Given the description of an element on the screen output the (x, y) to click on. 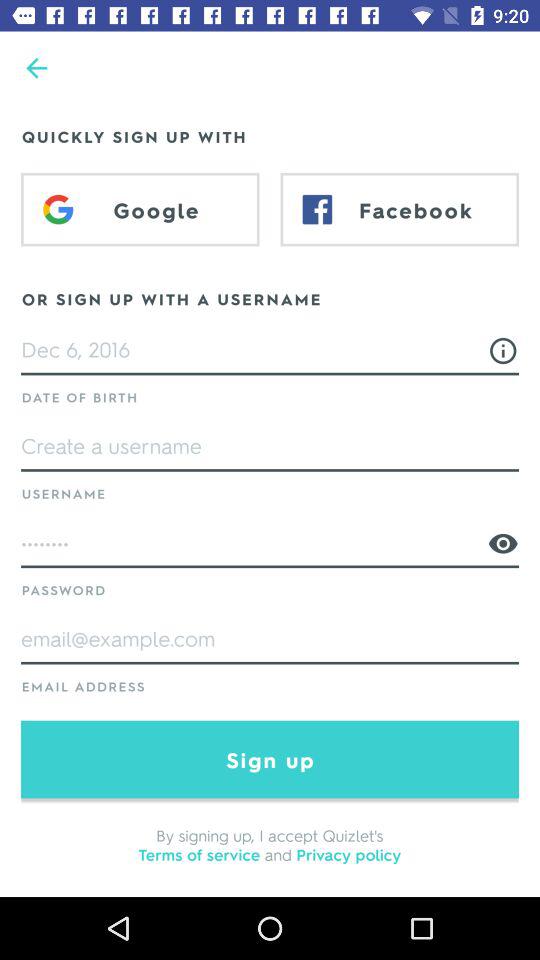
open icon above quickly sign up icon (36, 68)
